Given the description of an element on the screen output the (x, y) to click on. 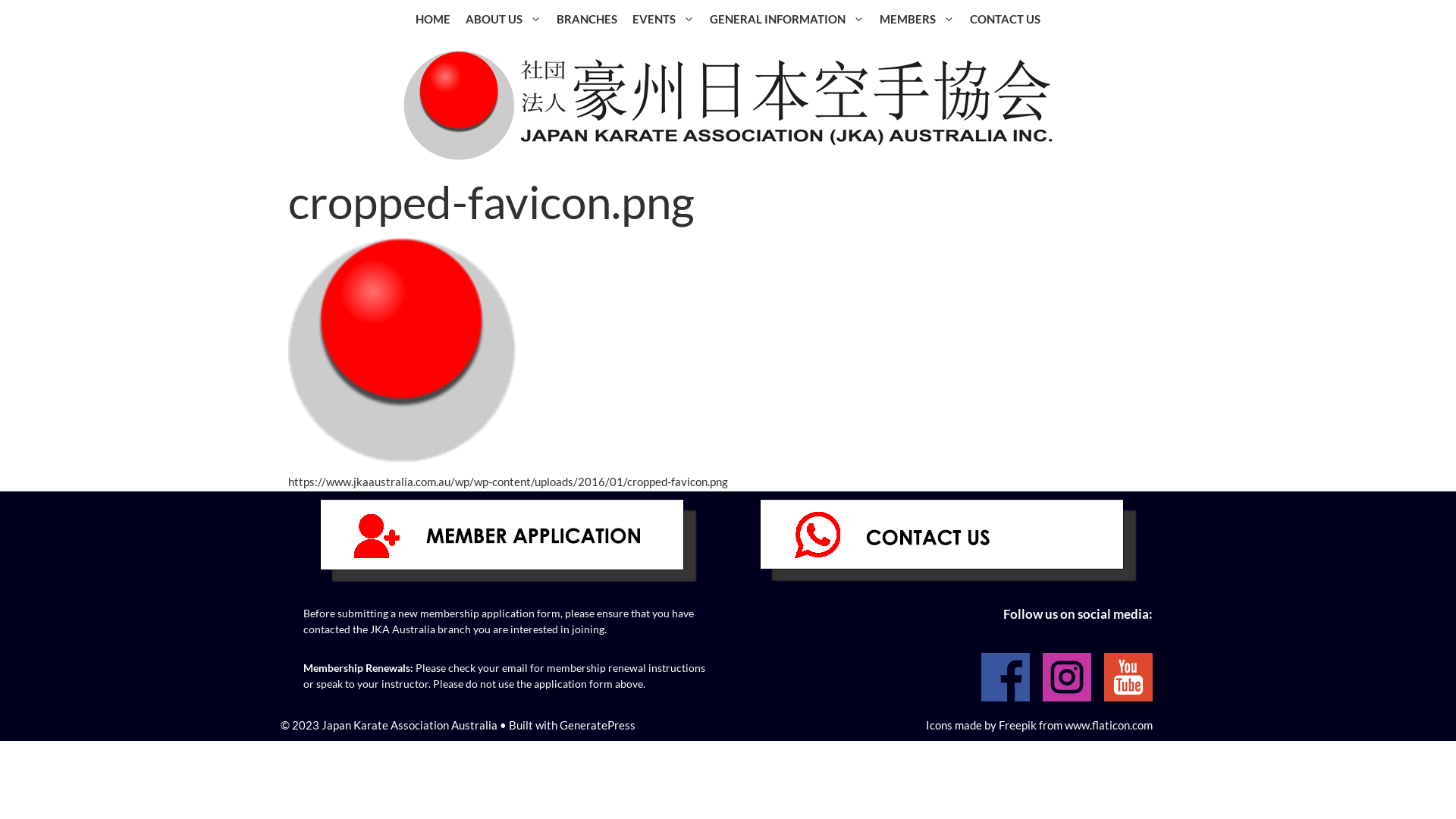
ABOUT US Element type: text (503, 18)
GeneratePress Element type: text (597, 724)
Freepik Element type: text (1017, 724)
GENERAL INFORMATION Element type: text (787, 18)
MEMBERS Element type: text (917, 18)
EVENTS Element type: text (663, 18)
BRANCHES Element type: text (586, 18)
CONTACT US Element type: text (1005, 18)
www.flaticon.com Element type: text (1108, 724)
HOME Element type: text (432, 18)
